Given the description of an element on the screen output the (x, y) to click on. 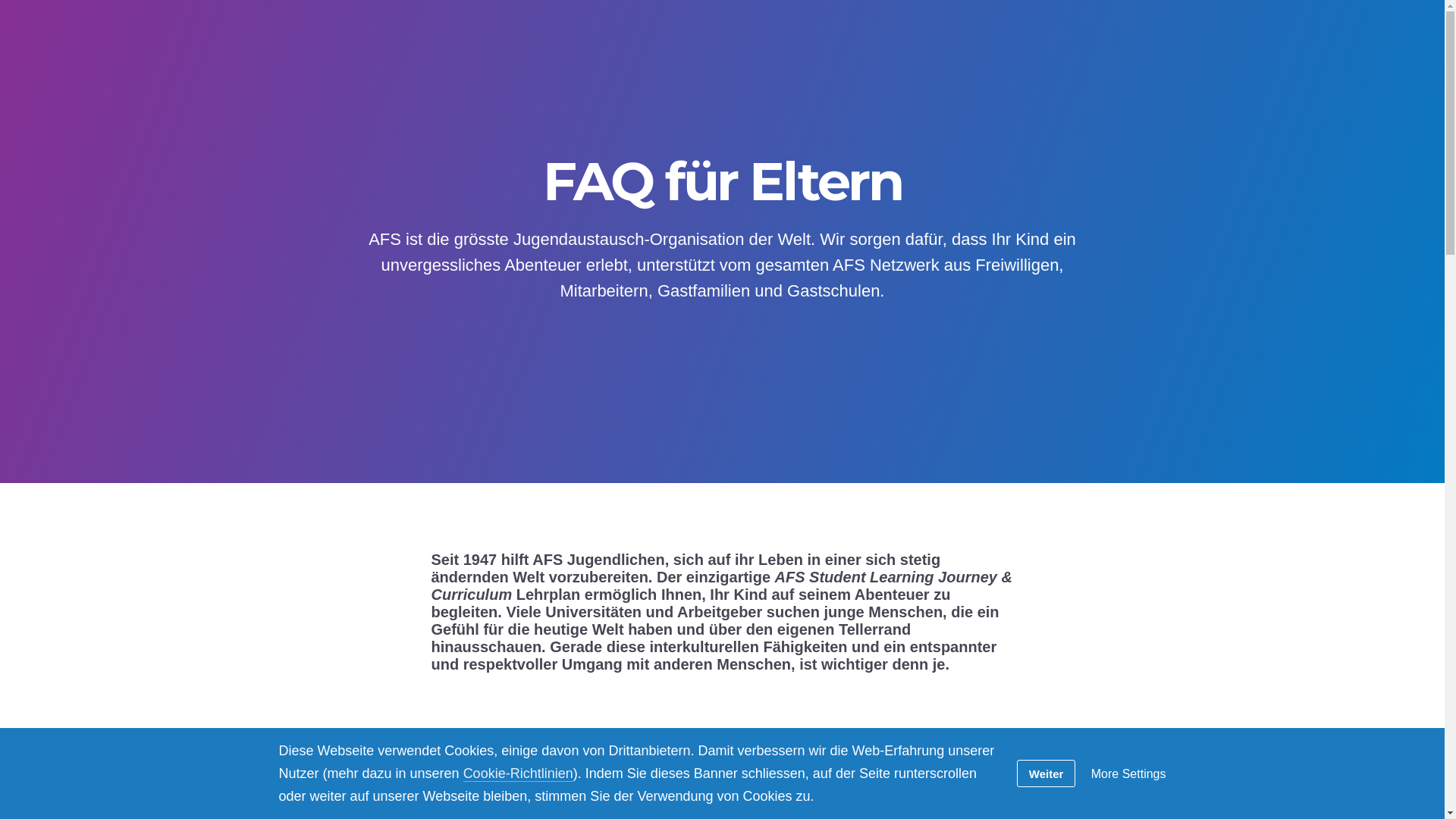
More Settings Element type: text (1128, 773)
Weiter Element type: text (1046, 773)
Cookie-Richtlinien Element type: text (518, 773)
